Given the description of an element on the screen output the (x, y) to click on. 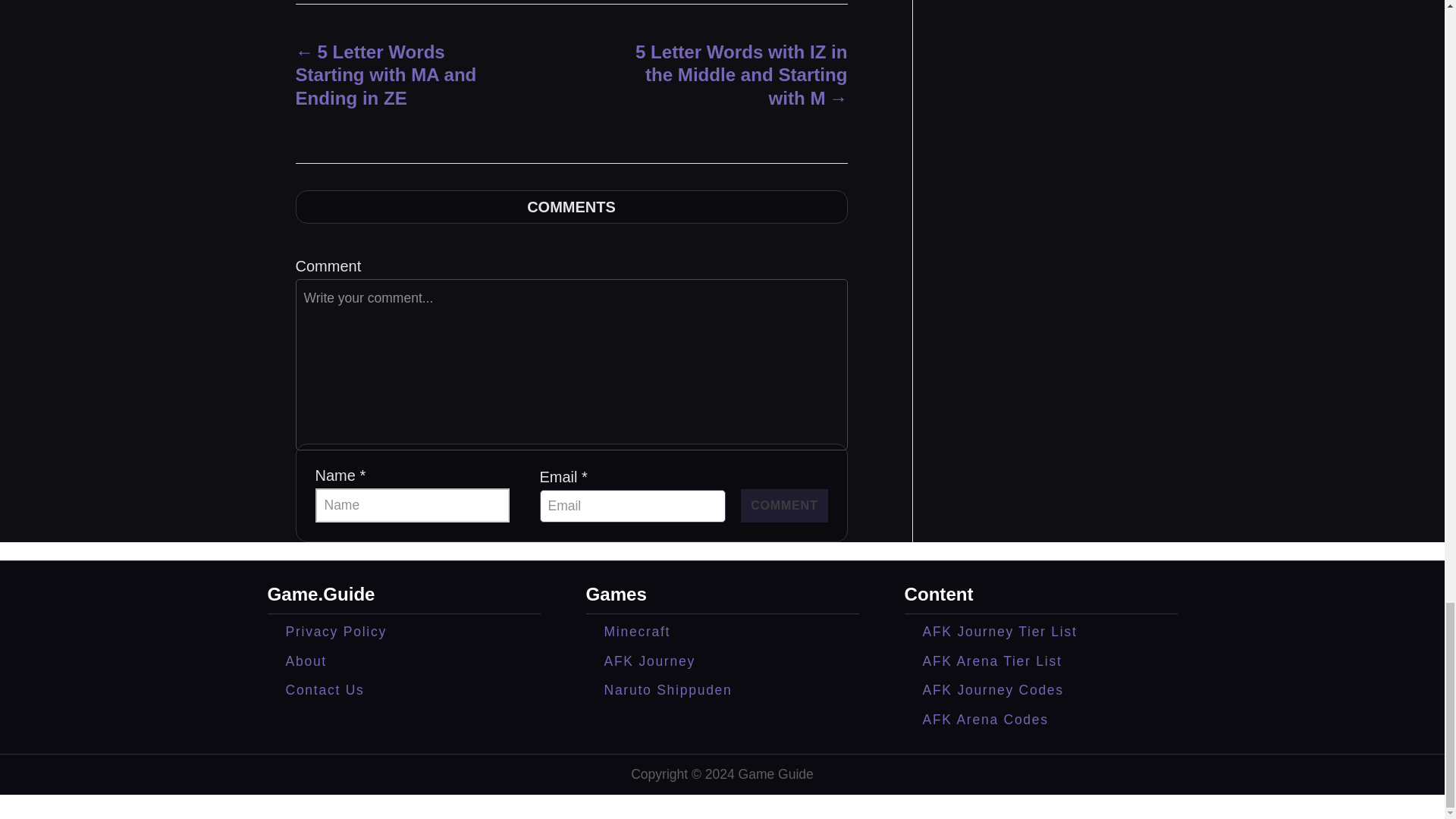
5 Letter Words Starting with MA and Ending in ZE (405, 74)
5 Letter Words with IZ in the Middle and Starting with M (736, 74)
